Given the description of an element on the screen output the (x, y) to click on. 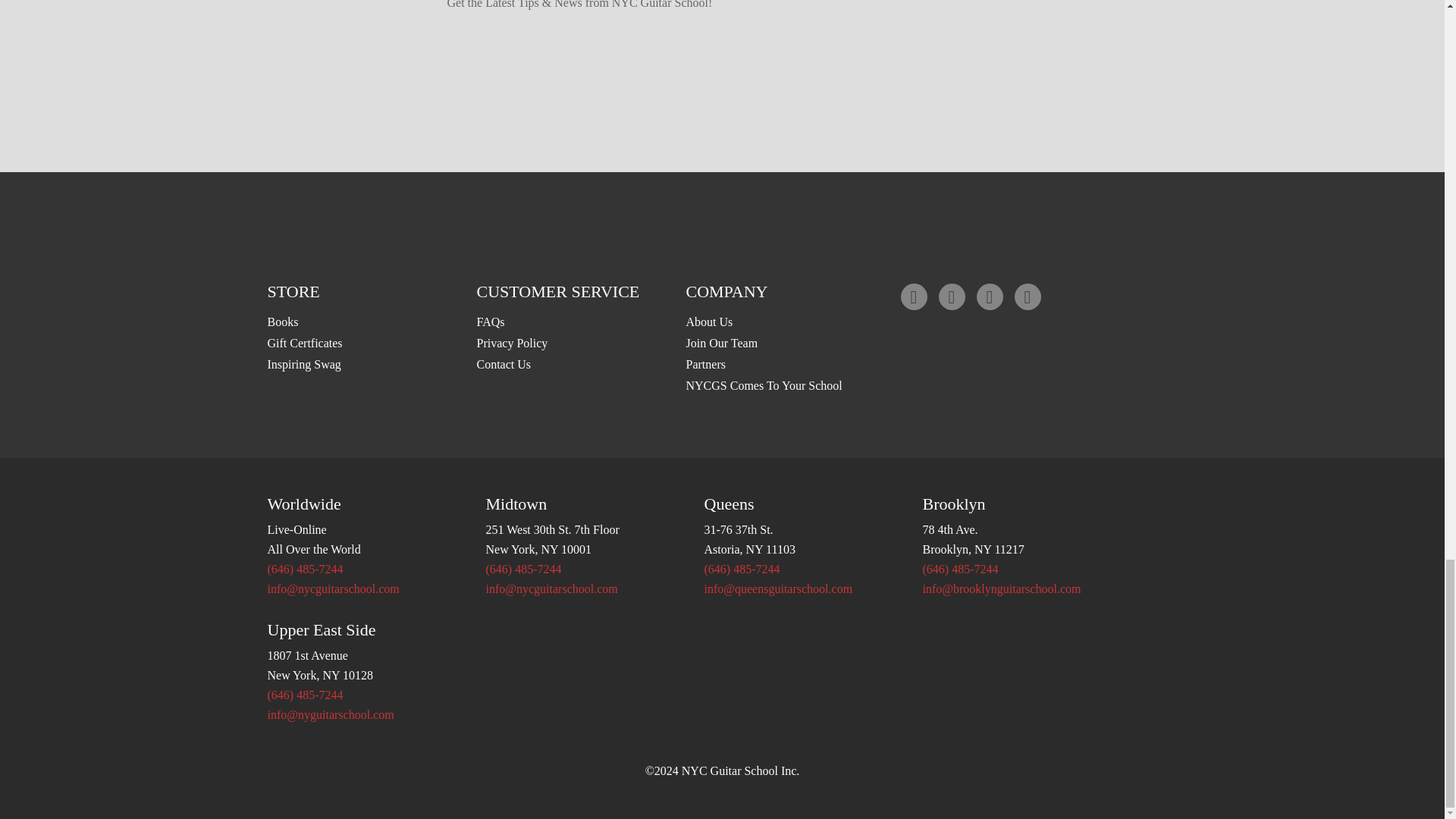
Embedded Wufoo Form (722, 73)
